Given the description of an element on the screen output the (x, y) to click on. 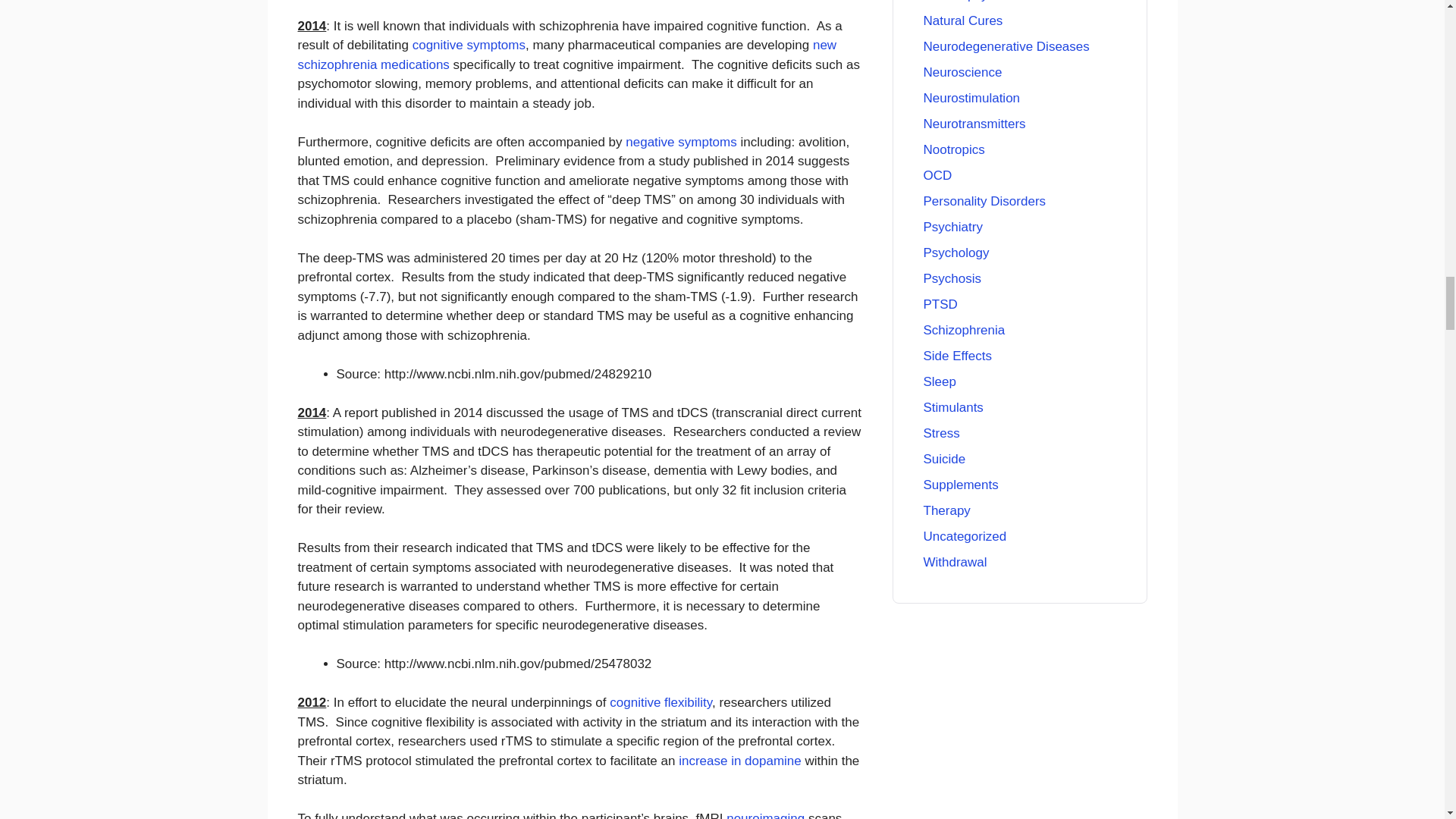
new schizophrenia medications (566, 54)
increase in dopamine (740, 760)
cognitive symptoms (468, 44)
cognitive flexibility (660, 702)
negative symptoms (681, 142)
neuroimaging (765, 815)
